Given the description of an element on the screen output the (x, y) to click on. 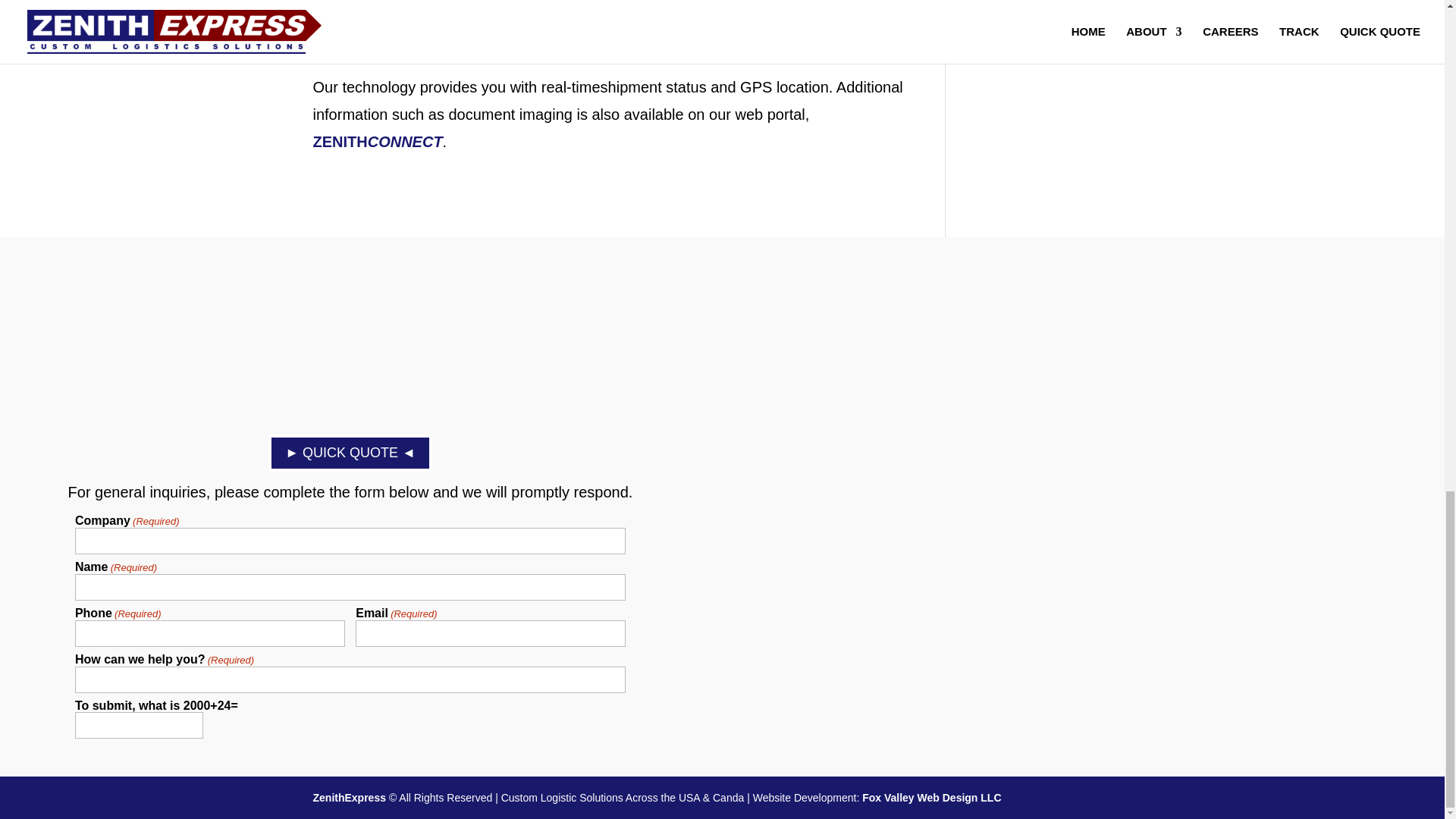
ZENITHCONNECT (377, 141)
